Given the description of an element on the screen output the (x, y) to click on. 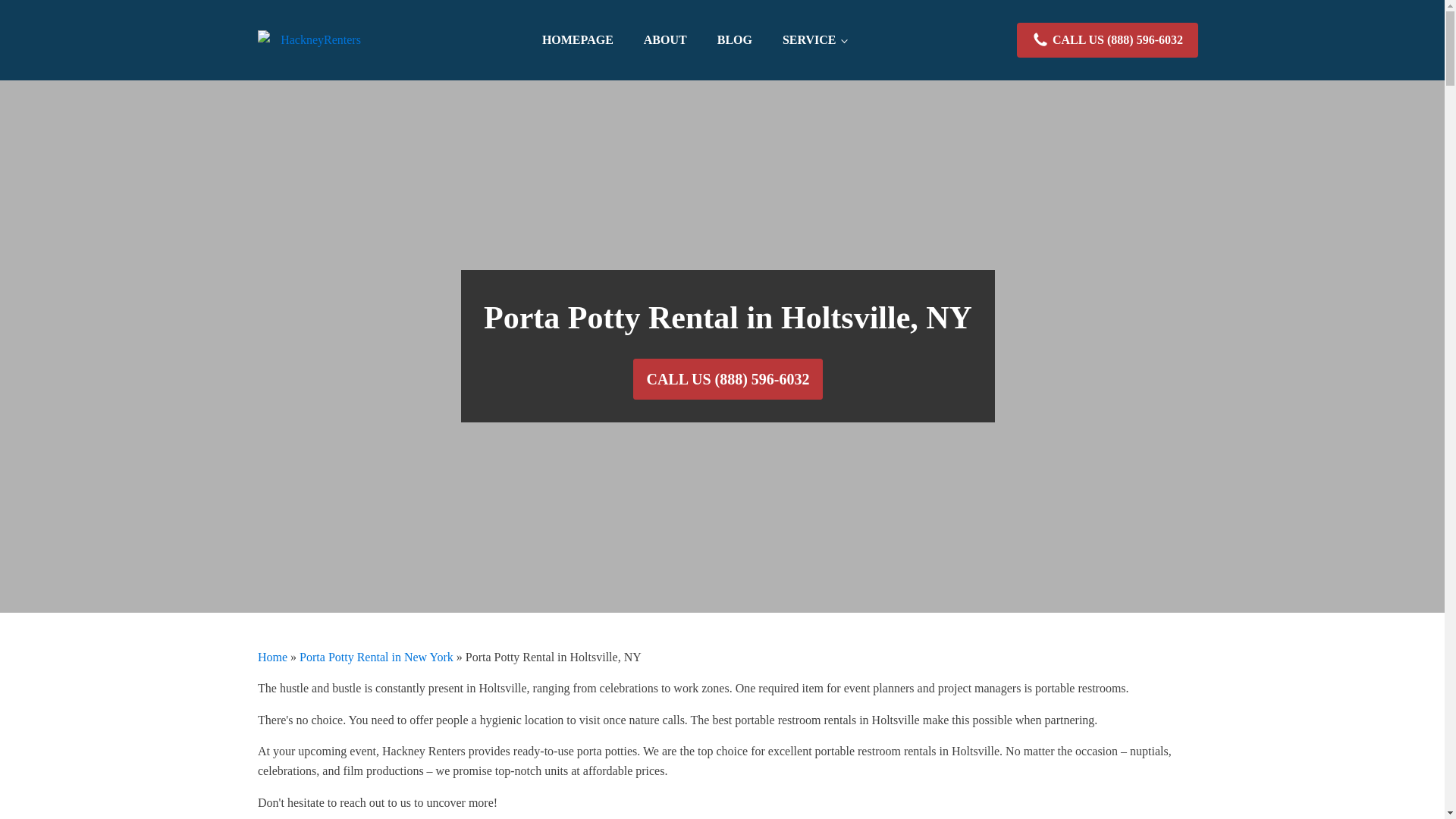
SERVICE (814, 40)
BLOG (734, 40)
Home (271, 656)
ABOUT (664, 40)
HOMEPAGE (577, 40)
Porta Potty Rental in New York (375, 656)
